Given the description of an element on the screen output the (x, y) to click on. 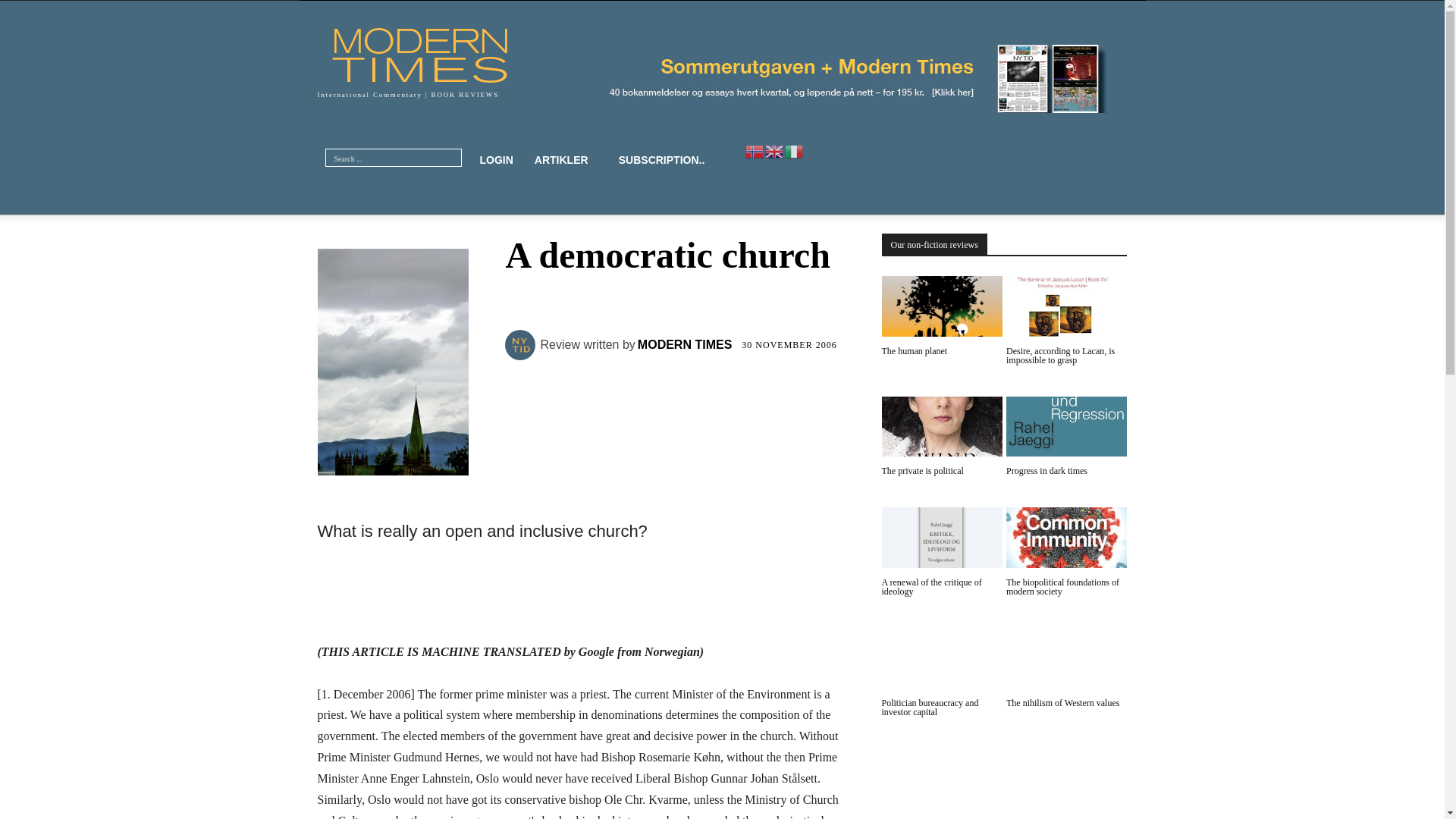
Norwegian (755, 150)
Italian (794, 150)
English (774, 150)
